Given the description of an element on the screen output the (x, y) to click on. 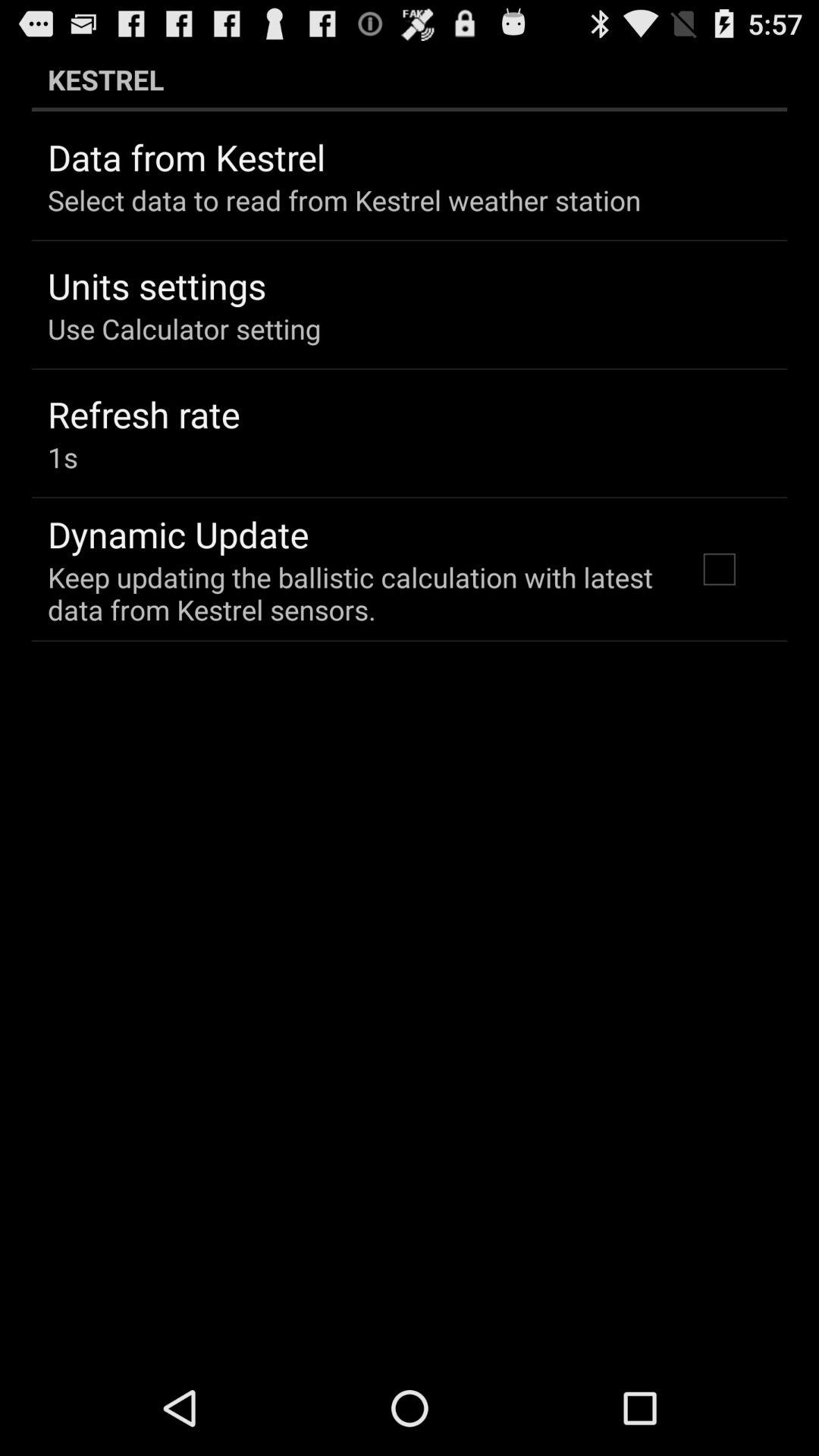
flip until the refresh rate (143, 414)
